Given the description of an element on the screen output the (x, y) to click on. 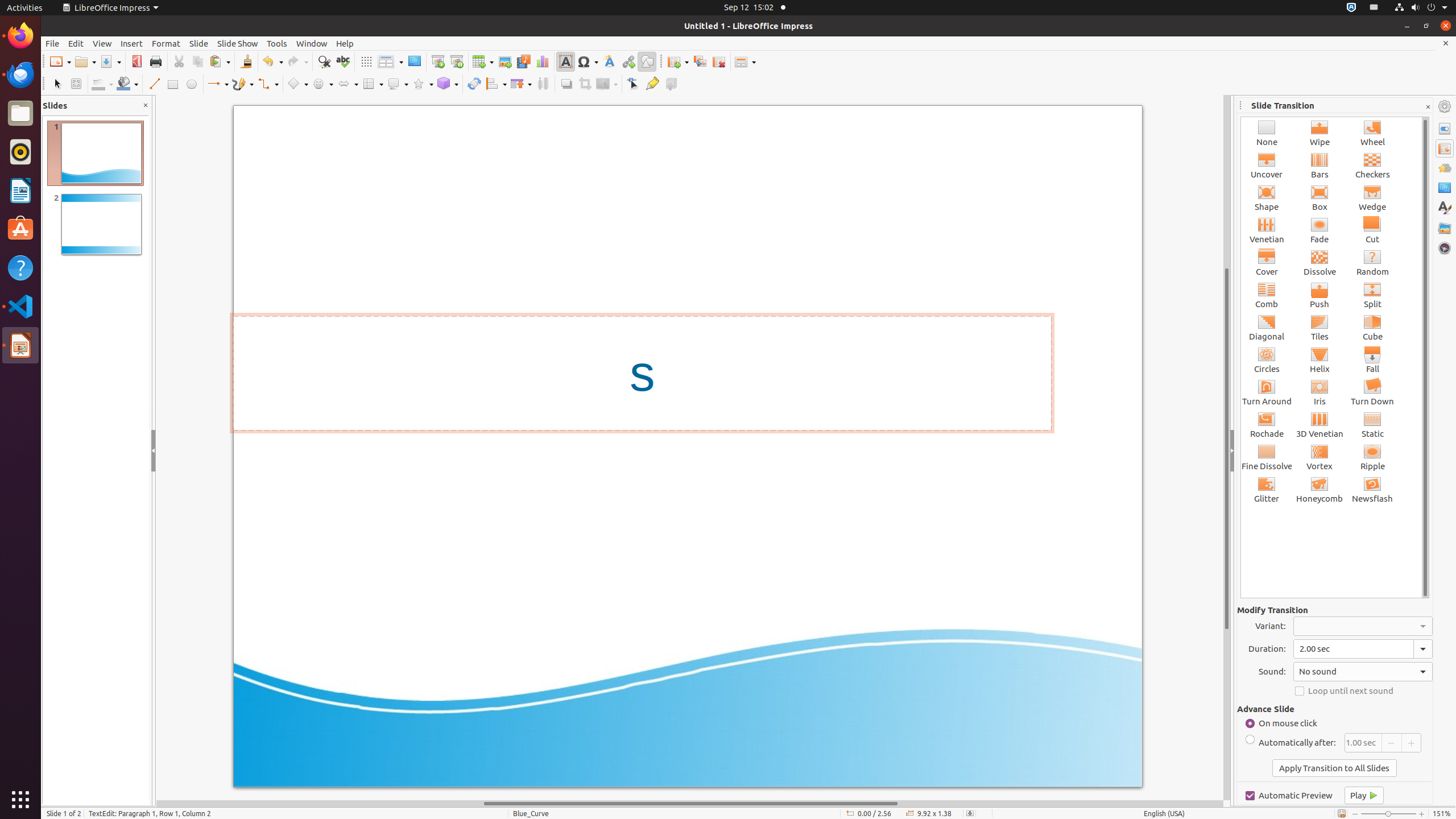
3D Venetian Element type: list-item (1319, 424)
Tools Element type: menu (276, 43)
Sound: Element type: combo-box (1362, 671)
Lines and Arrows Element type: push-button (217, 83)
Navigator Element type: radio-button (1444, 247)
